Given the description of an element on the screen output the (x, y) to click on. 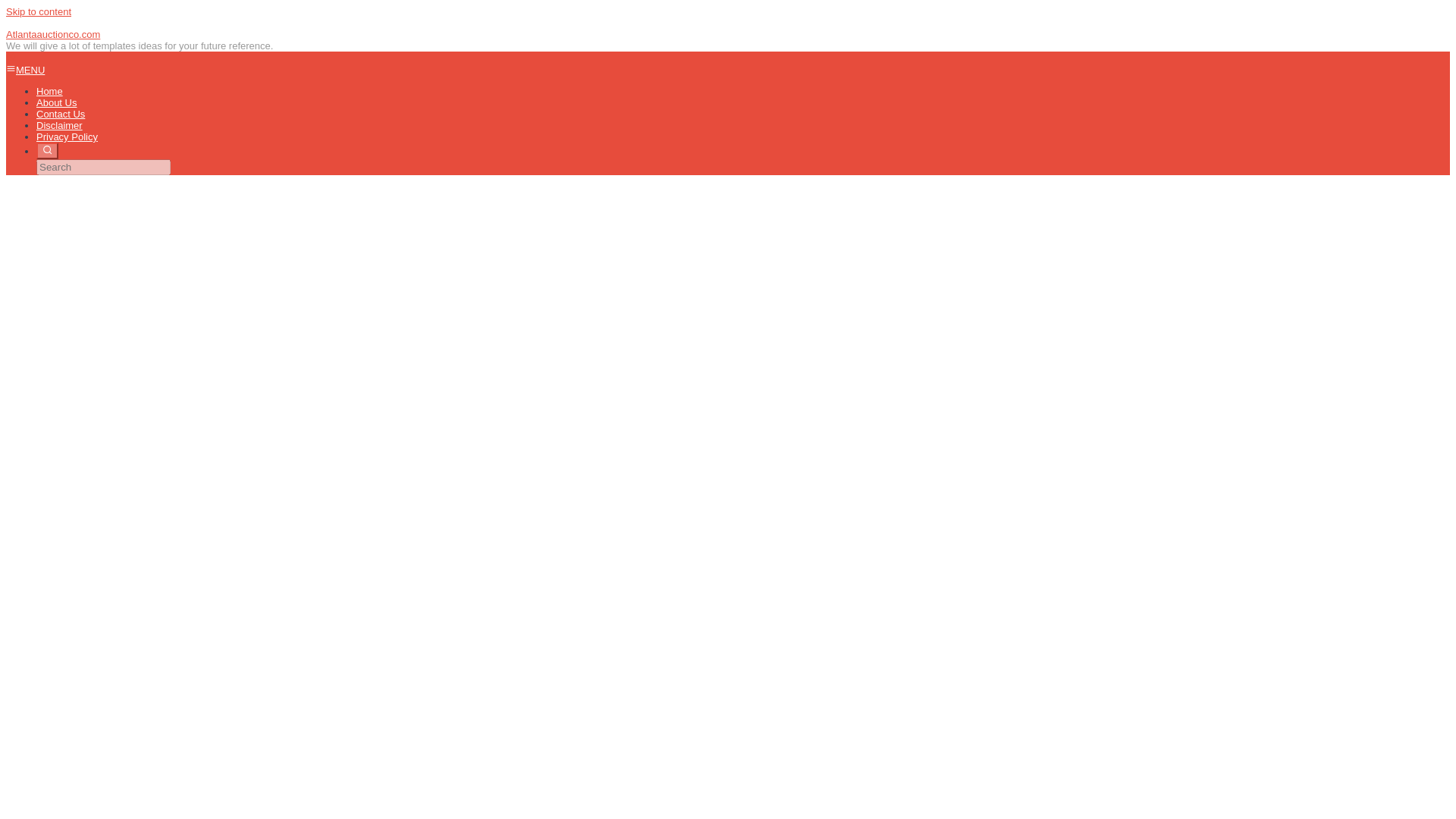
Search (47, 150)
Atlantaauctionco.com (52, 34)
Atlantaauctionco.com (52, 34)
About Us (56, 102)
MENU (25, 70)
Skip to content (38, 11)
Disclaimer (59, 125)
Contact Us (60, 113)
Home (49, 91)
Privacy Policy (66, 136)
